Given the description of an element on the screen output the (x, y) to click on. 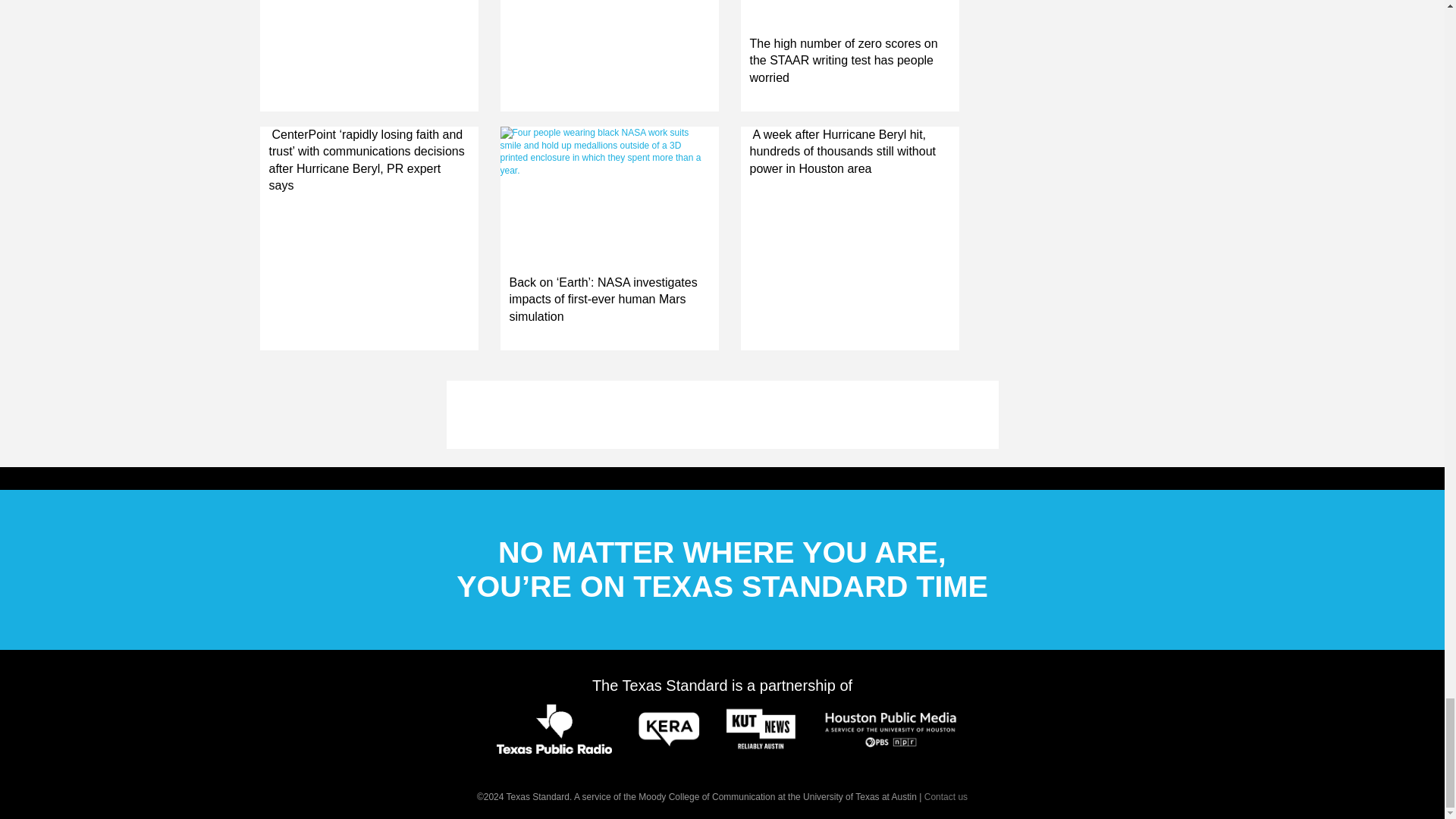
3rd party ad content (721, 414)
